Given the description of an element on the screen output the (x, y) to click on. 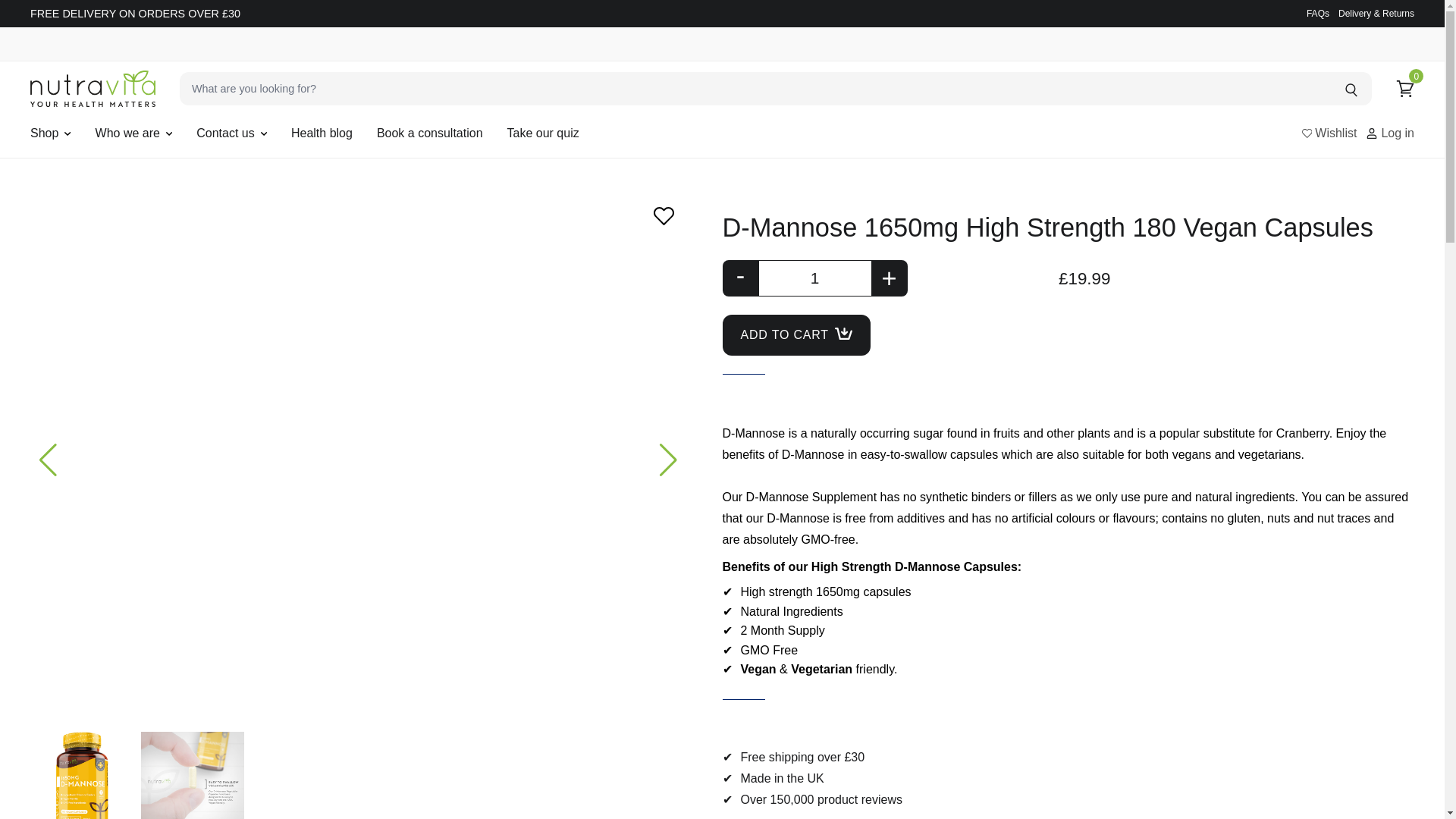
1 (814, 278)
Contact us (224, 133)
FAQs (1317, 13)
FAQs (1317, 13)
Who we are (128, 133)
0 (1404, 88)
Shop (44, 133)
Customer reviews powered by Trustpilot (1067, 203)
